Given the description of an element on the screen output the (x, y) to click on. 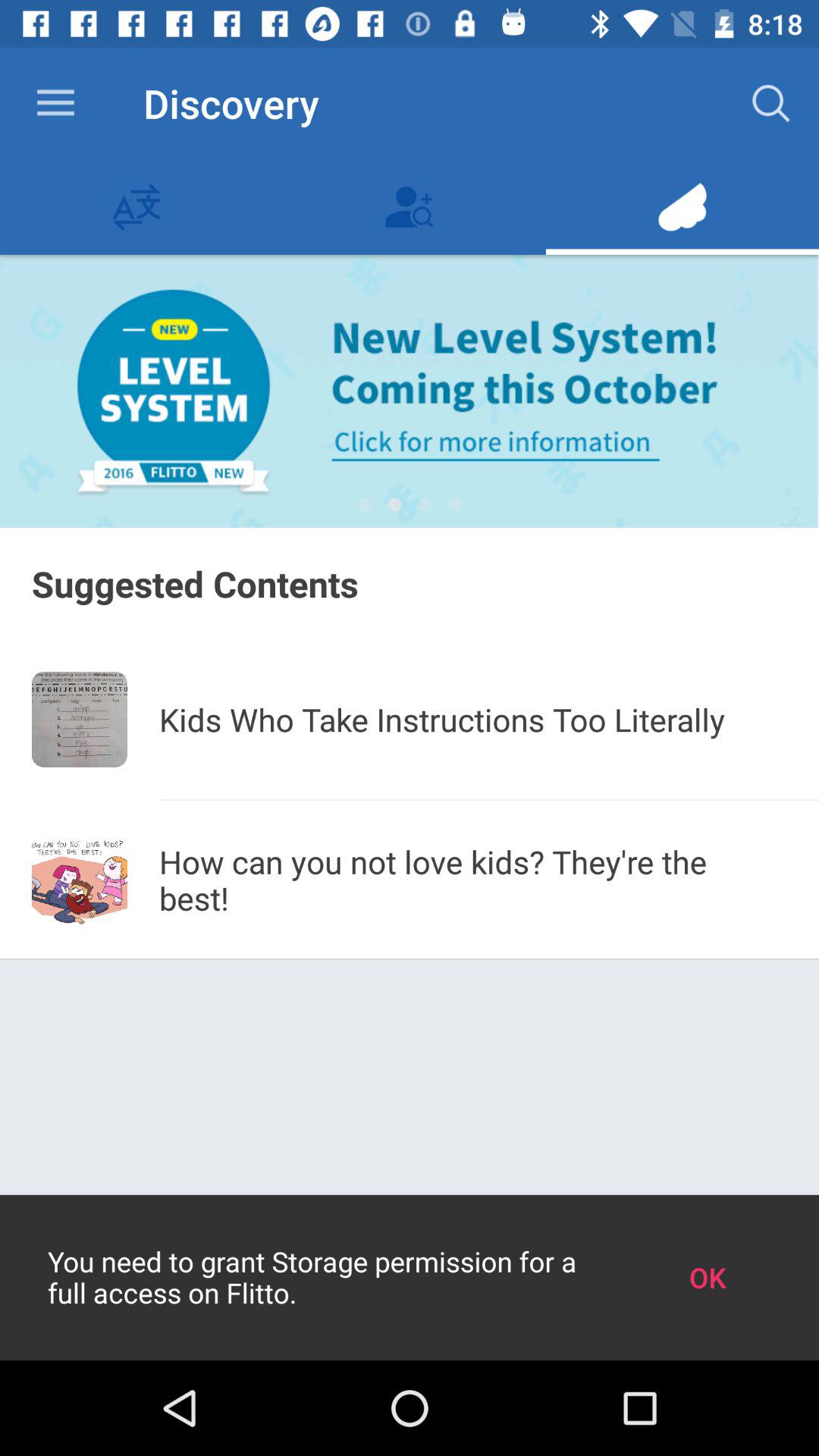
choose the icon above suggested contents item (364, 504)
